Given the description of an element on the screen output the (x, y) to click on. 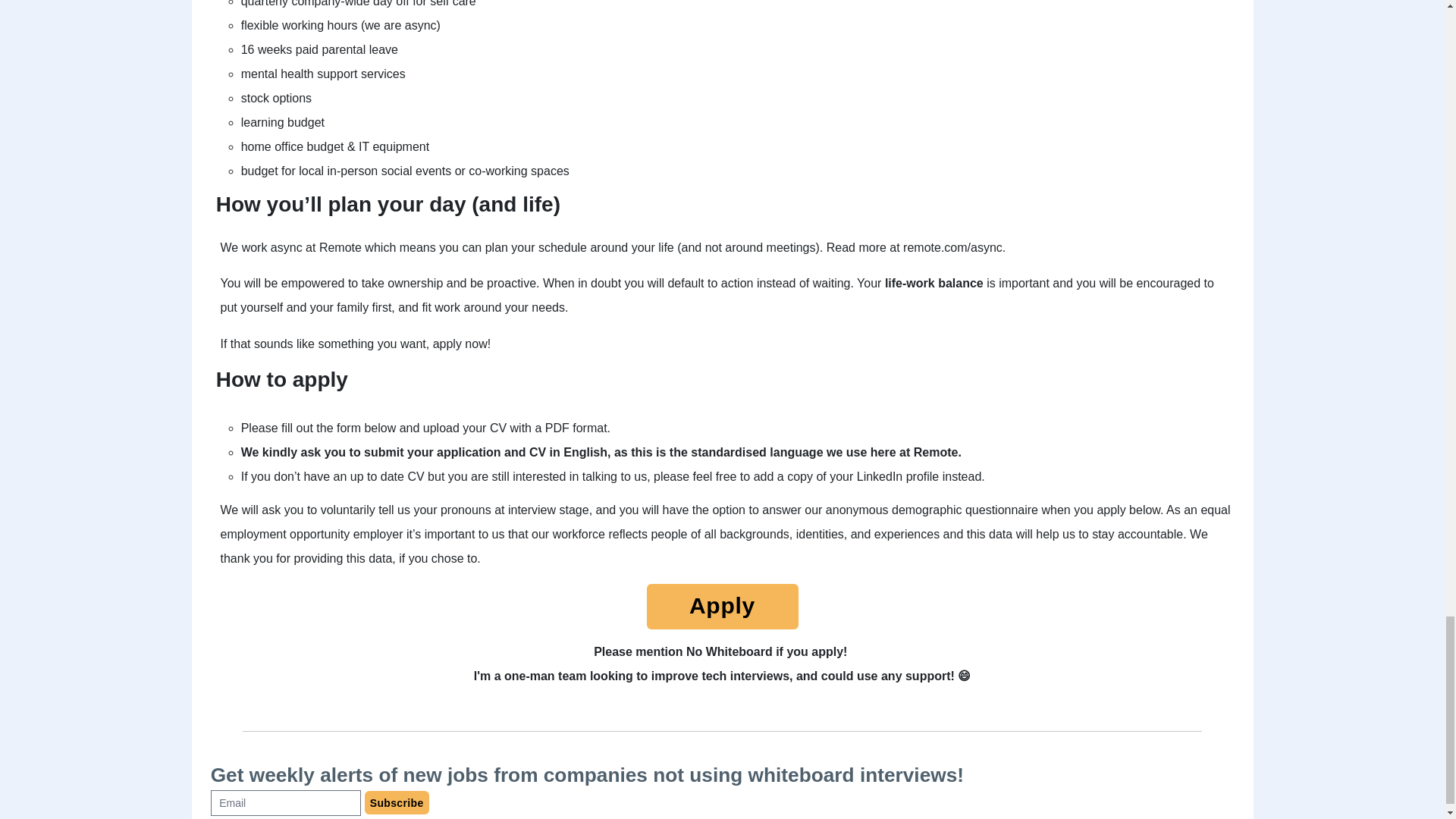
async (420, 24)
Apply (721, 609)
Subscribe (397, 802)
Apply (721, 606)
